Given the description of an element on the screen output the (x, y) to click on. 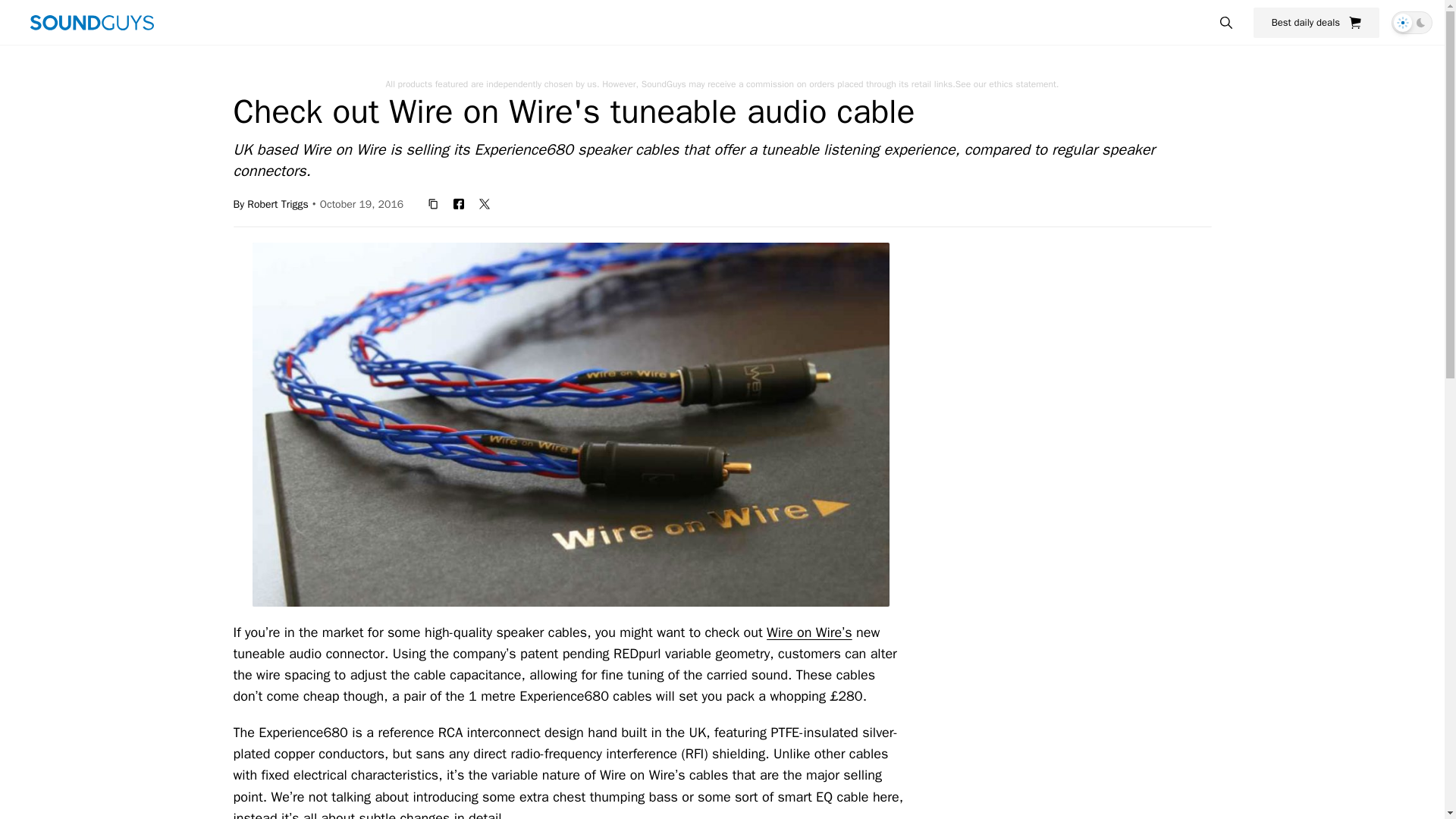
Robert Triggs (277, 203)
See our ethics statement. (1007, 83)
Best daily deals (1315, 22)
twitter (484, 203)
facebook (458, 203)
